Given the description of an element on the screen output the (x, y) to click on. 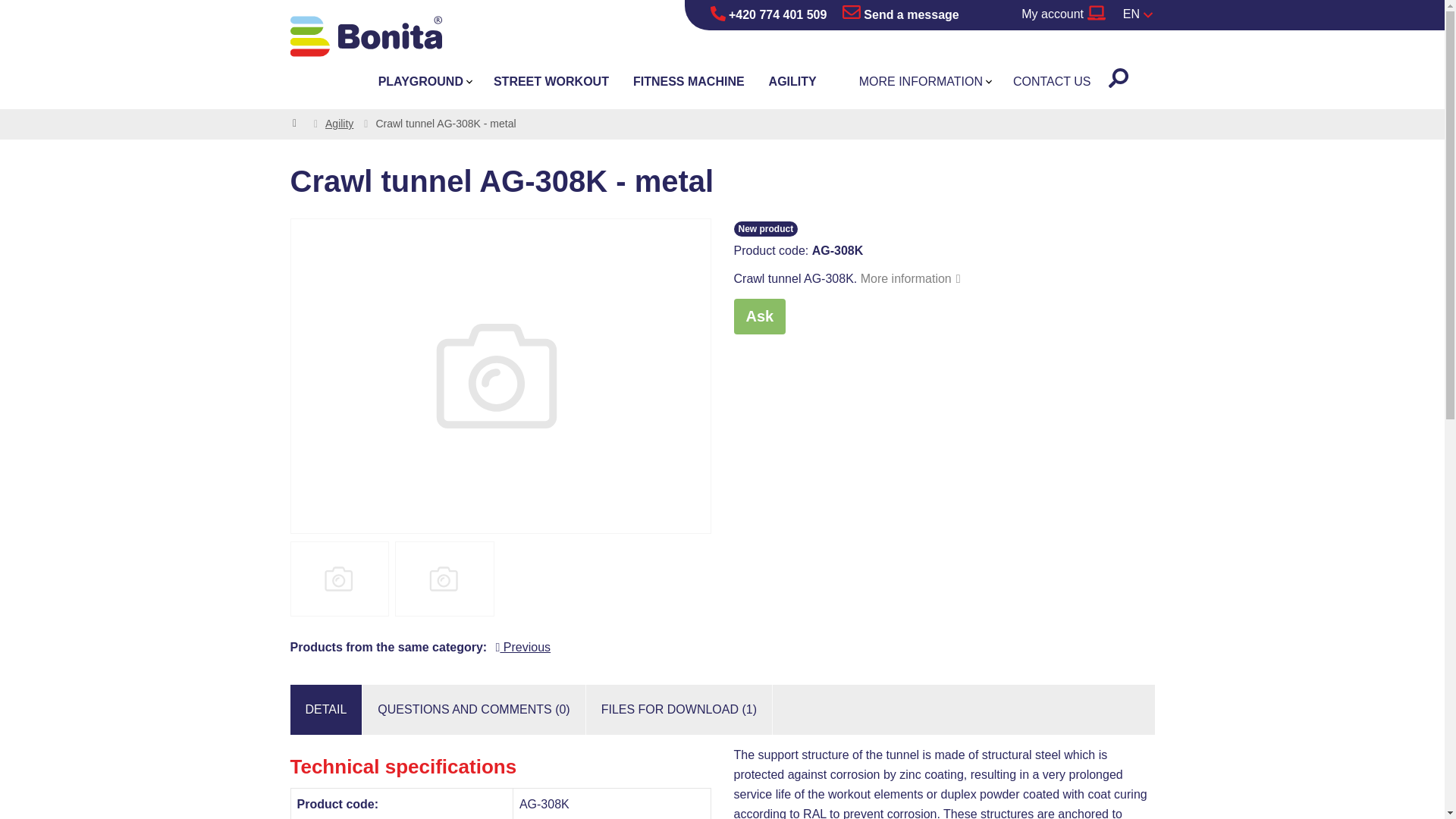
Ask (759, 316)
Send a message (901, 15)
Bonita Children's Playgrounds - Skip to the page menu (365, 35)
My account (1062, 15)
Crawl tunnel AG-308K - metal (499, 376)
Previous (523, 646)
Crawl tunnel AG-308K - metal (444, 578)
Agility (338, 123)
DETAIL (325, 709)
More information (910, 278)
